Given the description of an element on the screen output the (x, y) to click on. 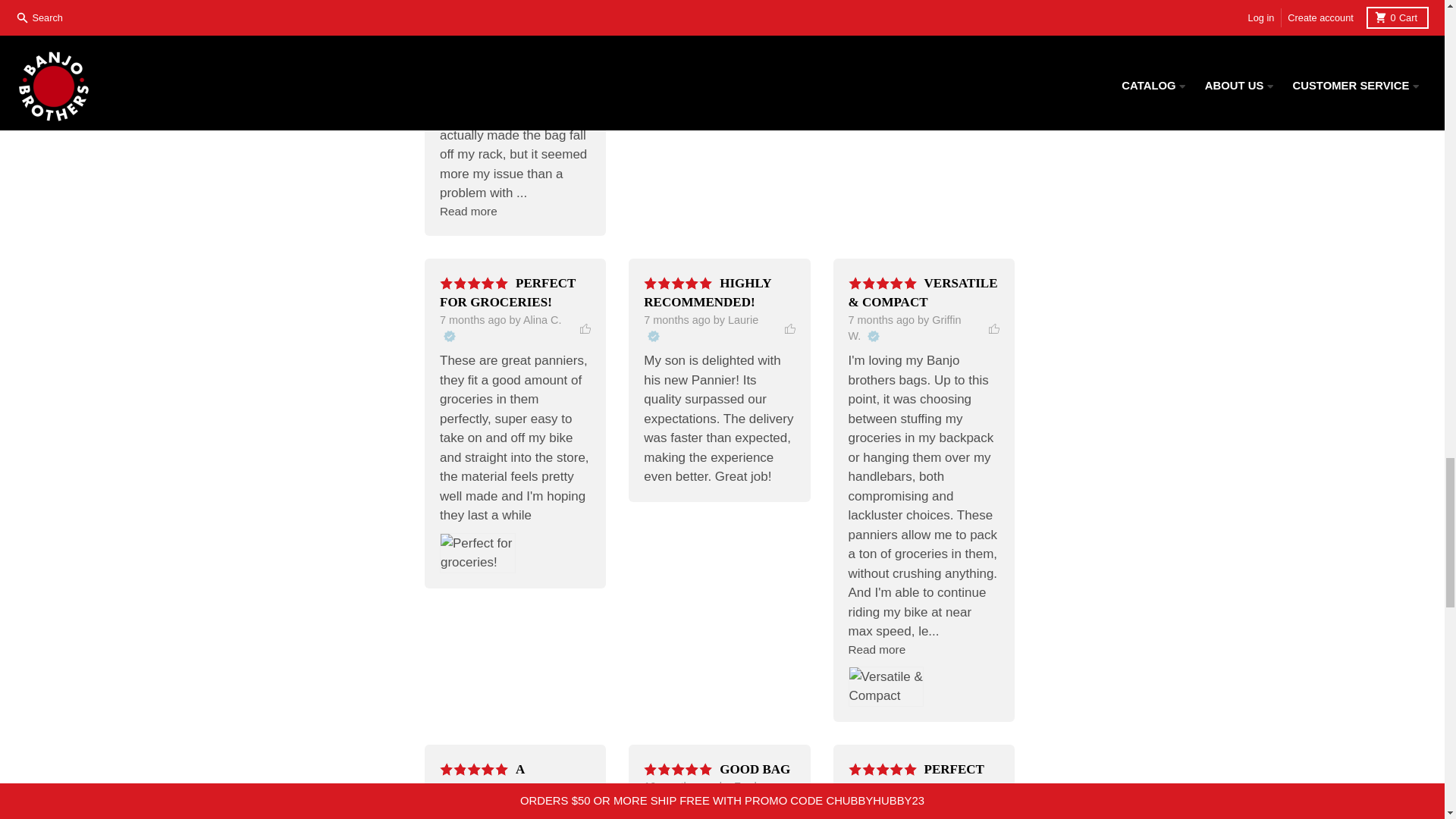
Verified review (448, 336)
